Given the description of an element on the screen output the (x, y) to click on. 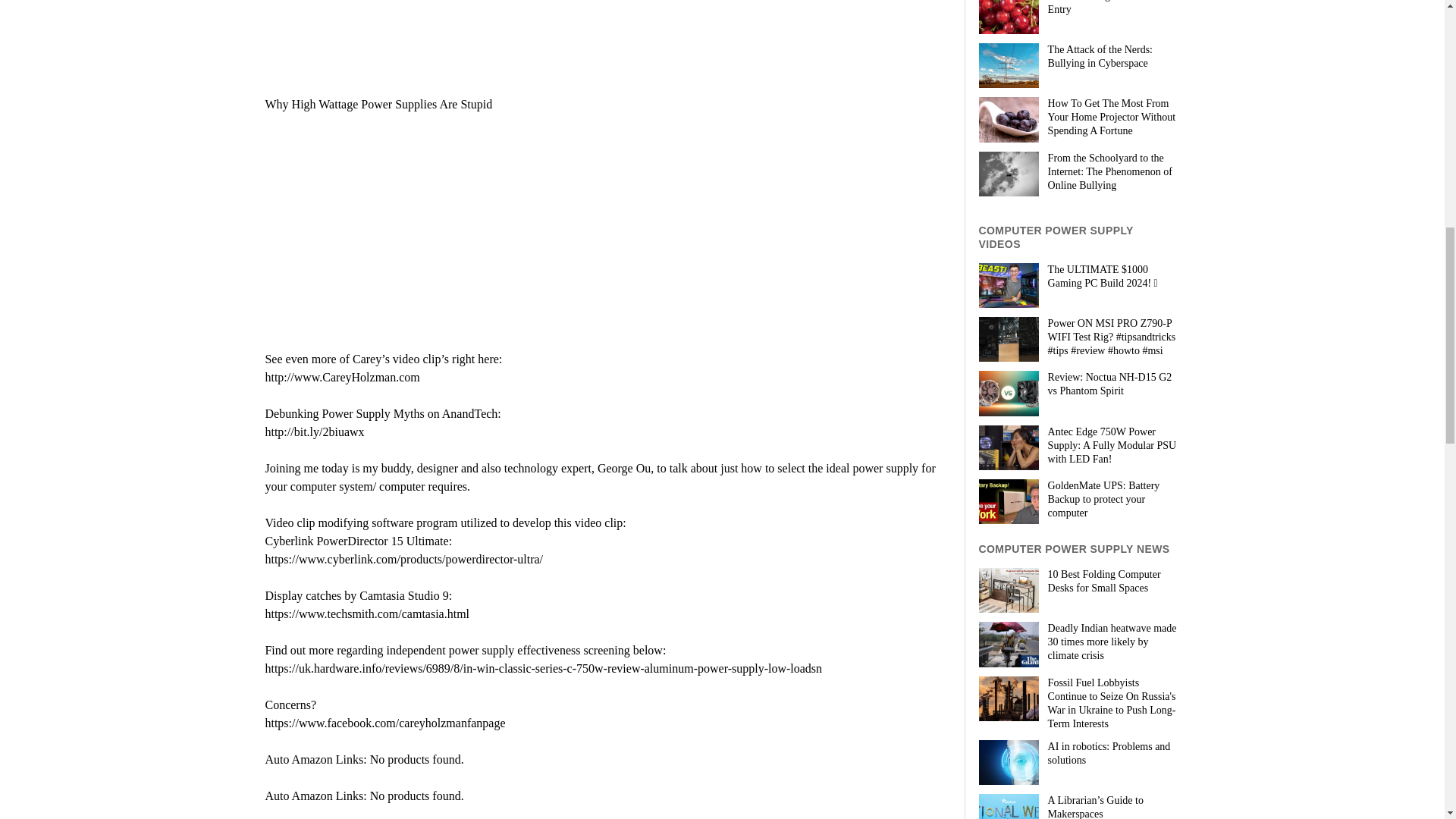
The Attack of the Nerds: Bullying in Cyberspace (1078, 56)
Why High Wattage Power Supplies Are Stupid (453, 219)
Understanding Online Data Entry (1078, 8)
